Given the description of an element on the screen output the (x, y) to click on. 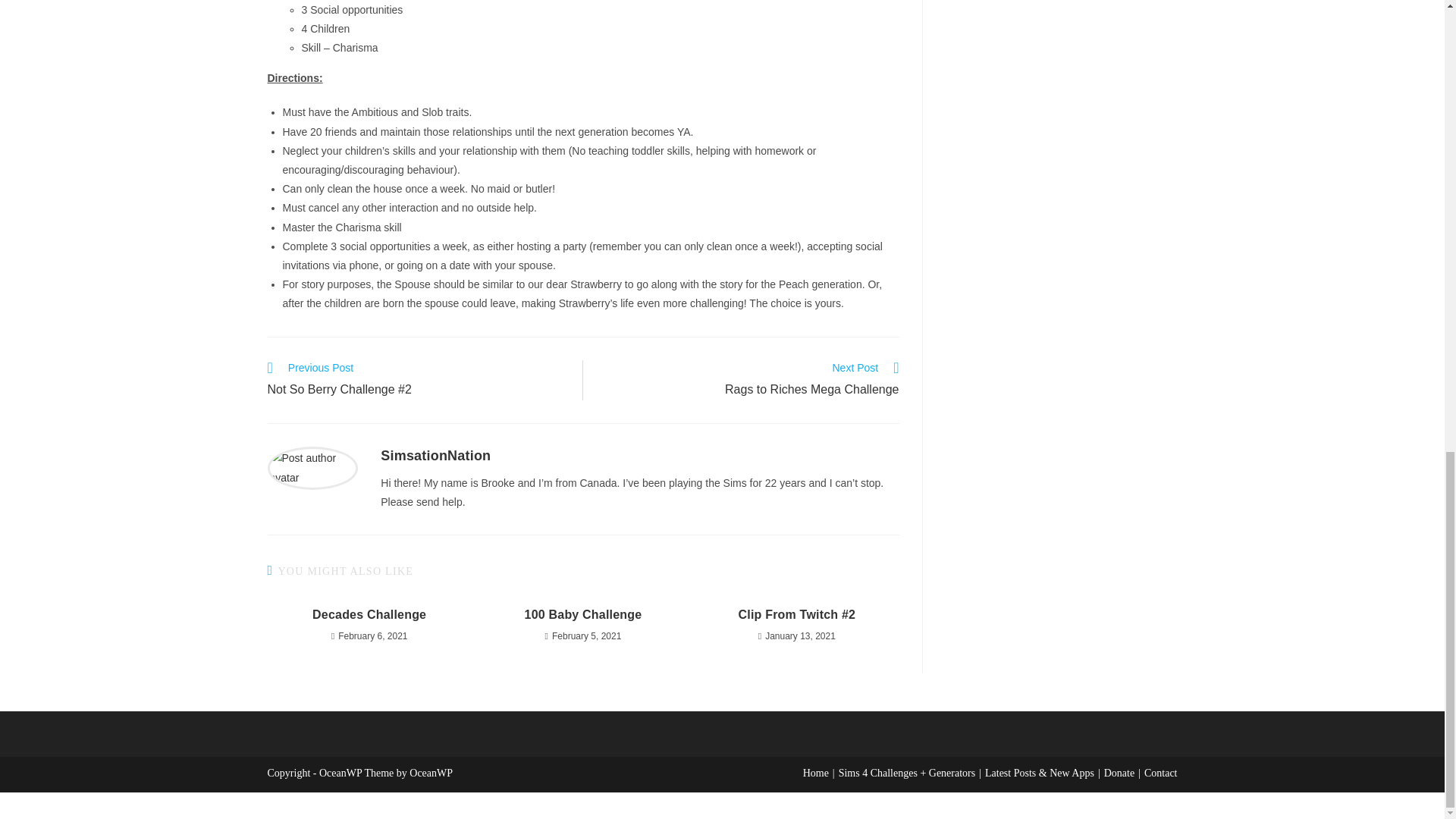
SimsationNation (435, 455)
Visit author page (312, 467)
Visit author page (435, 455)
100 Baby Challenge (582, 614)
Decades Challenge (368, 614)
